Given the description of an element on the screen output the (x, y) to click on. 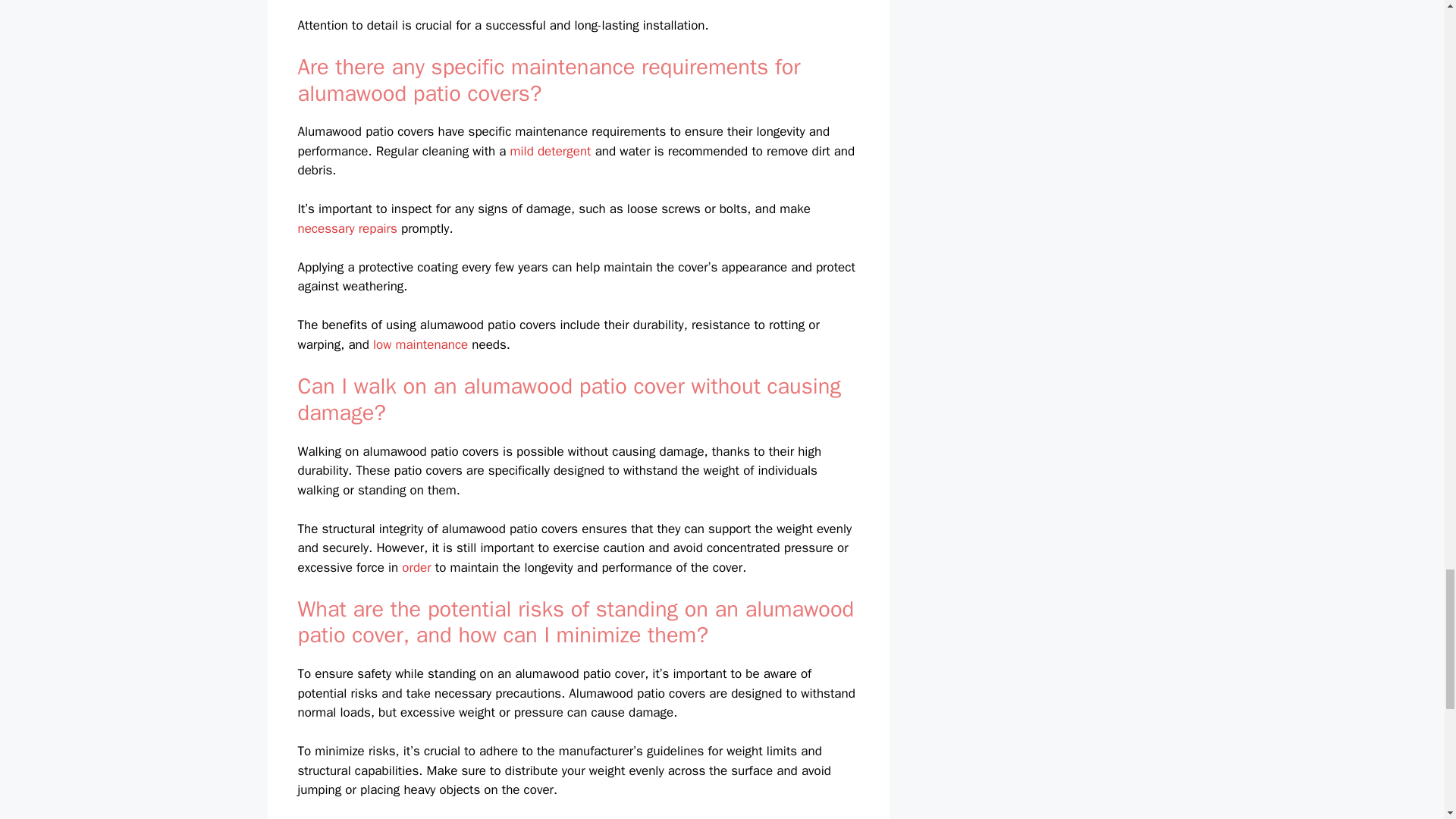
low maintenance (419, 344)
mild detergent (551, 150)
necessary repairs (346, 228)
order (415, 567)
